Given the description of an element on the screen output the (x, y) to click on. 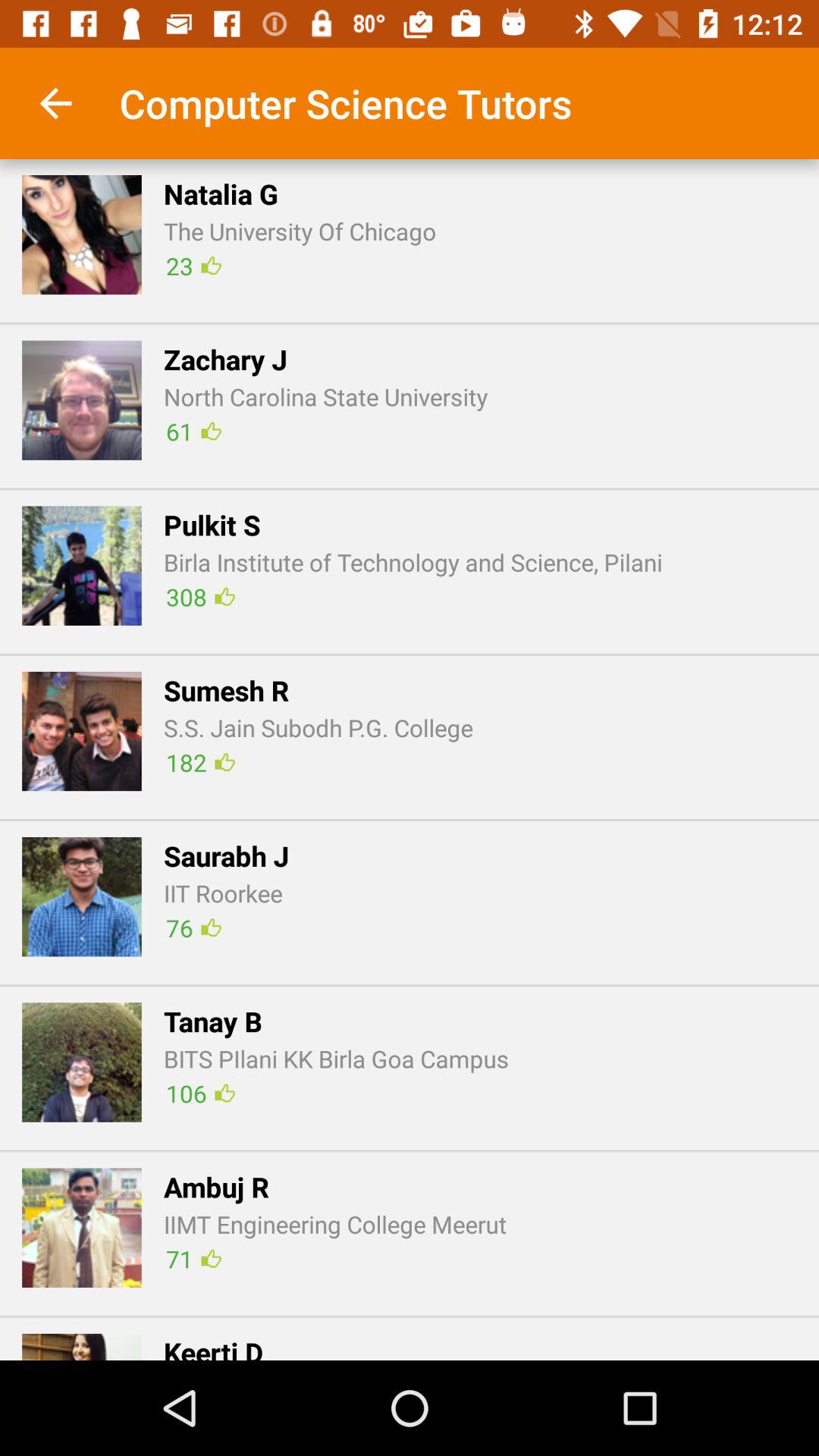
swipe to the zachary j item (225, 359)
